Given the description of an element on the screen output the (x, y) to click on. 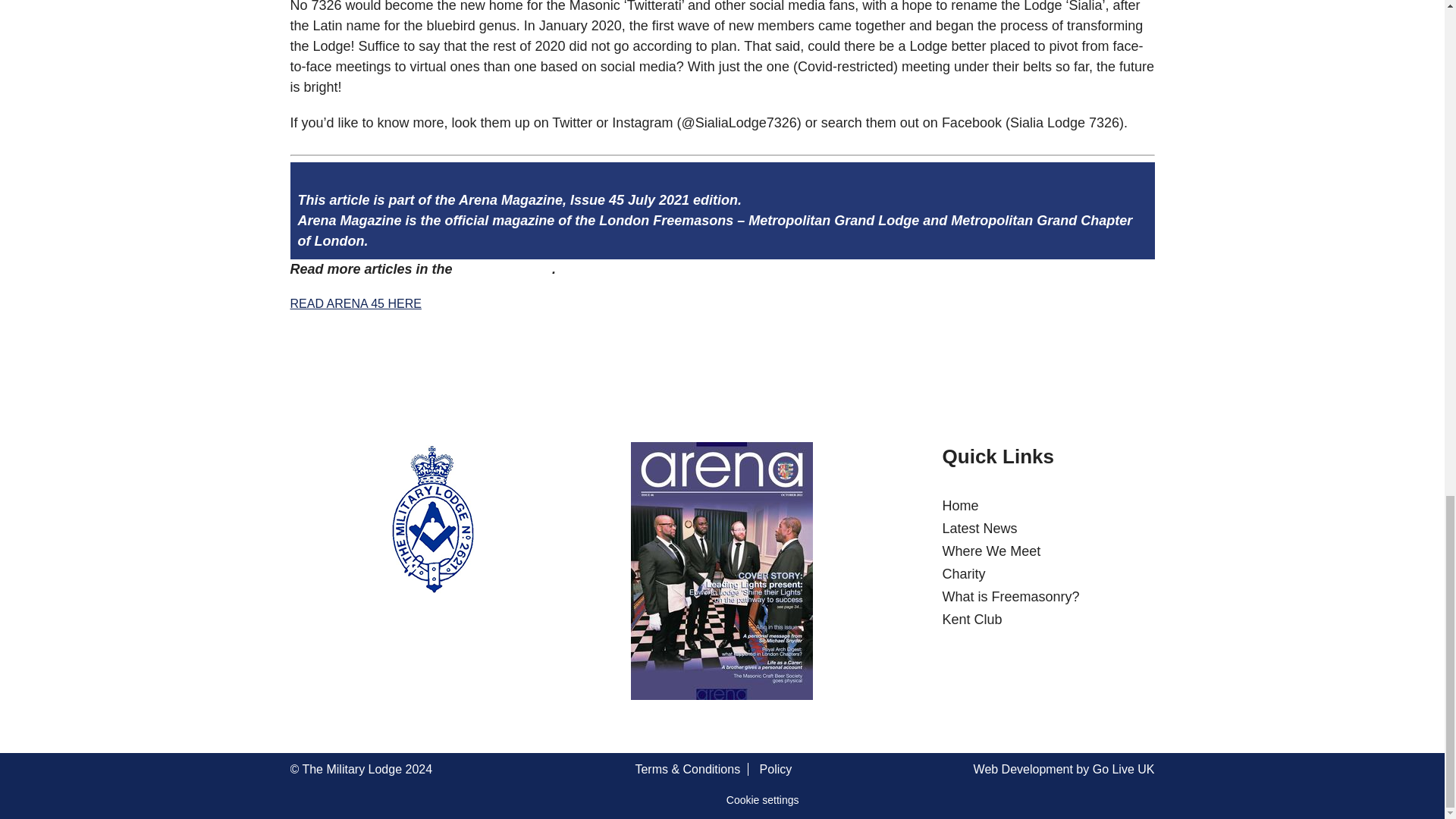
Cookie settings (762, 799)
Home (960, 505)
Kent Club (972, 619)
What is Freemasonry? (1011, 596)
Web Development by Go Live UK (1064, 768)
Where We Meet (991, 550)
Policy (772, 768)
Arena Issue 45 (503, 268)
Policies (772, 768)
Charity (963, 573)
